Given the description of an element on the screen output the (x, y) to click on. 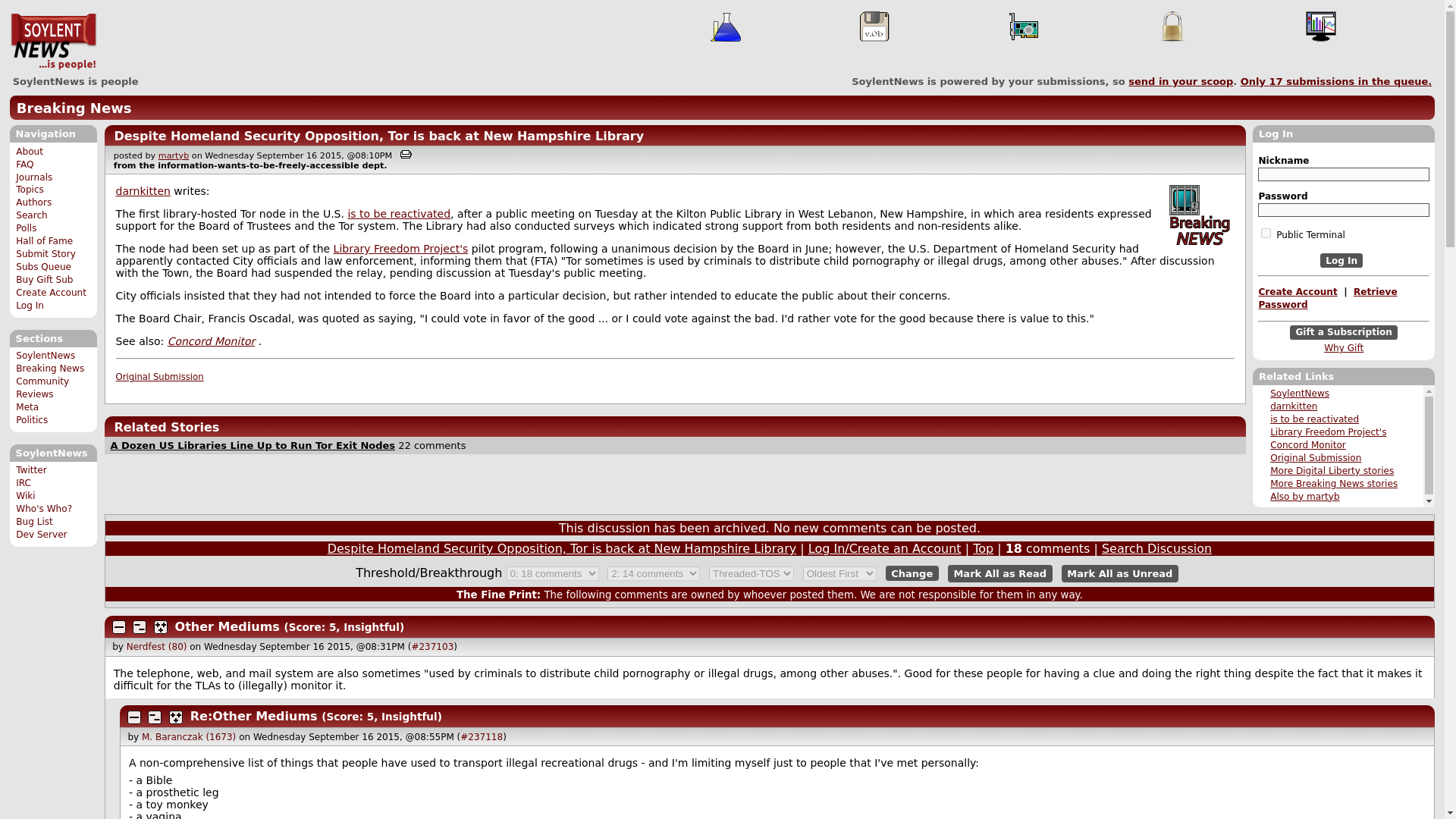
Community Reviews (42, 387)
Subs Queue (43, 266)
yes (1265, 233)
Science (725, 26)
Digital Liberty (1184, 200)
Topics (29, 189)
Who's Who? (43, 508)
Buy Gift Sub (44, 279)
Bug List (34, 521)
Show all comments in tree (175, 716)
Politics (32, 419)
FAQ (24, 163)
Breaking News (74, 107)
Log In (1341, 260)
Breaking News (1199, 230)
